Given the description of an element on the screen output the (x, y) to click on. 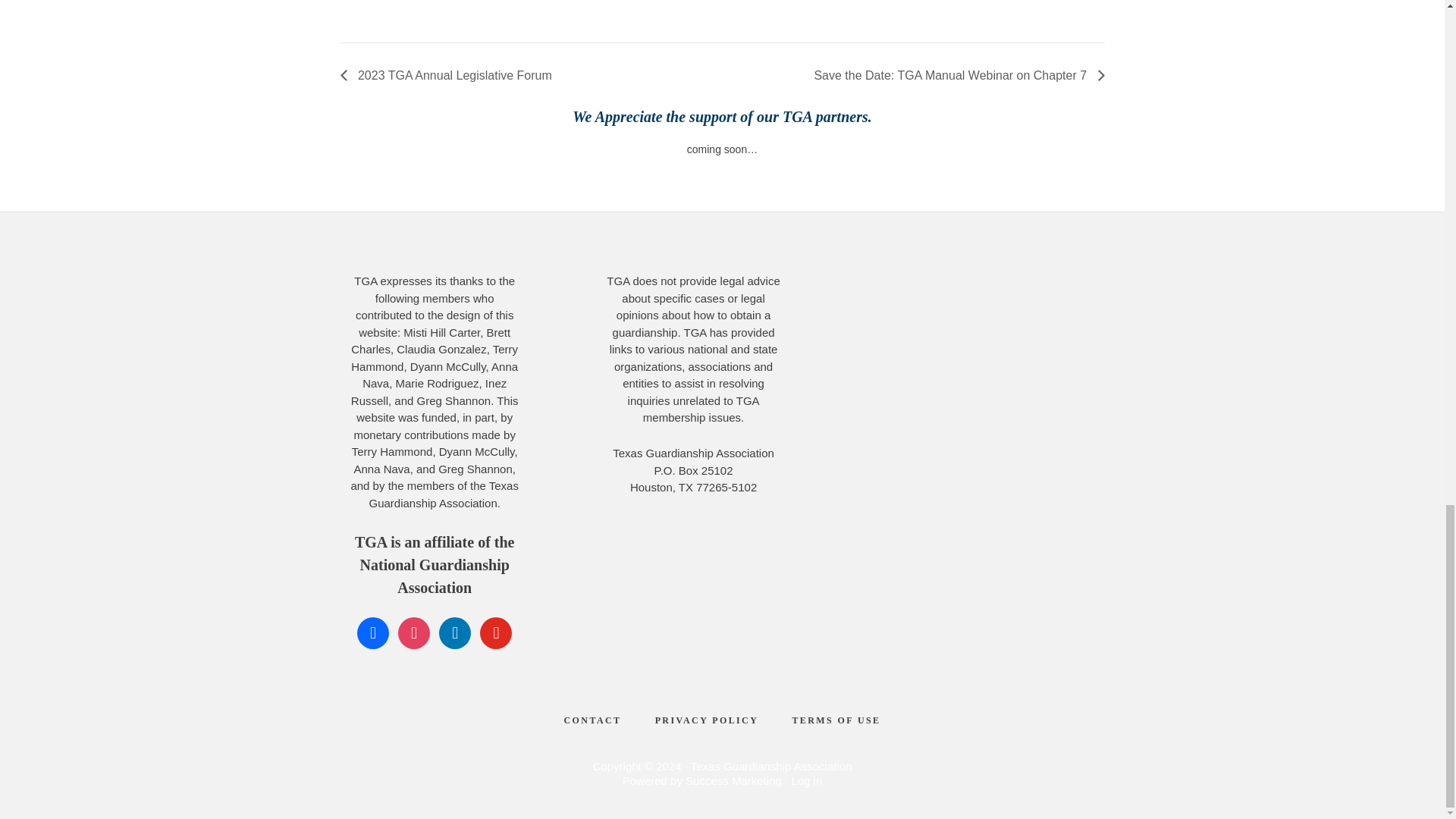
2023 TGA Annual Legislative Forum (449, 74)
Save the Date: TGA Manual Webinar on Chapter 7 (954, 74)
Facebook (372, 631)
Instagram (413, 631)
